Given the description of an element on the screen output the (x, y) to click on. 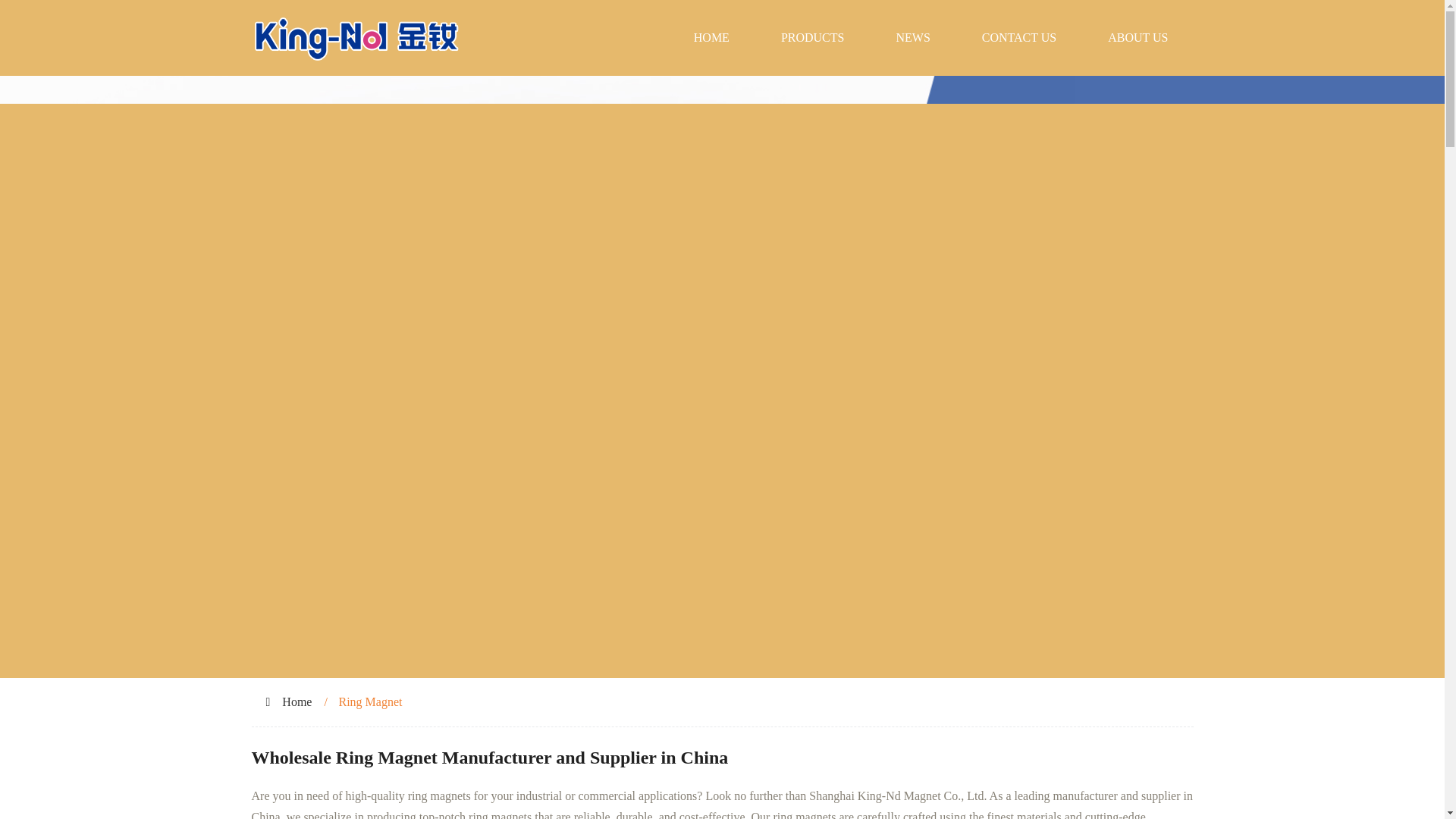
PRODUCTS (812, 38)
Home (296, 701)
ABOUT US (1137, 38)
HOME (711, 38)
CONTACT US (1018, 38)
NEWS (912, 38)
